Given the description of an element on the screen output the (x, y) to click on. 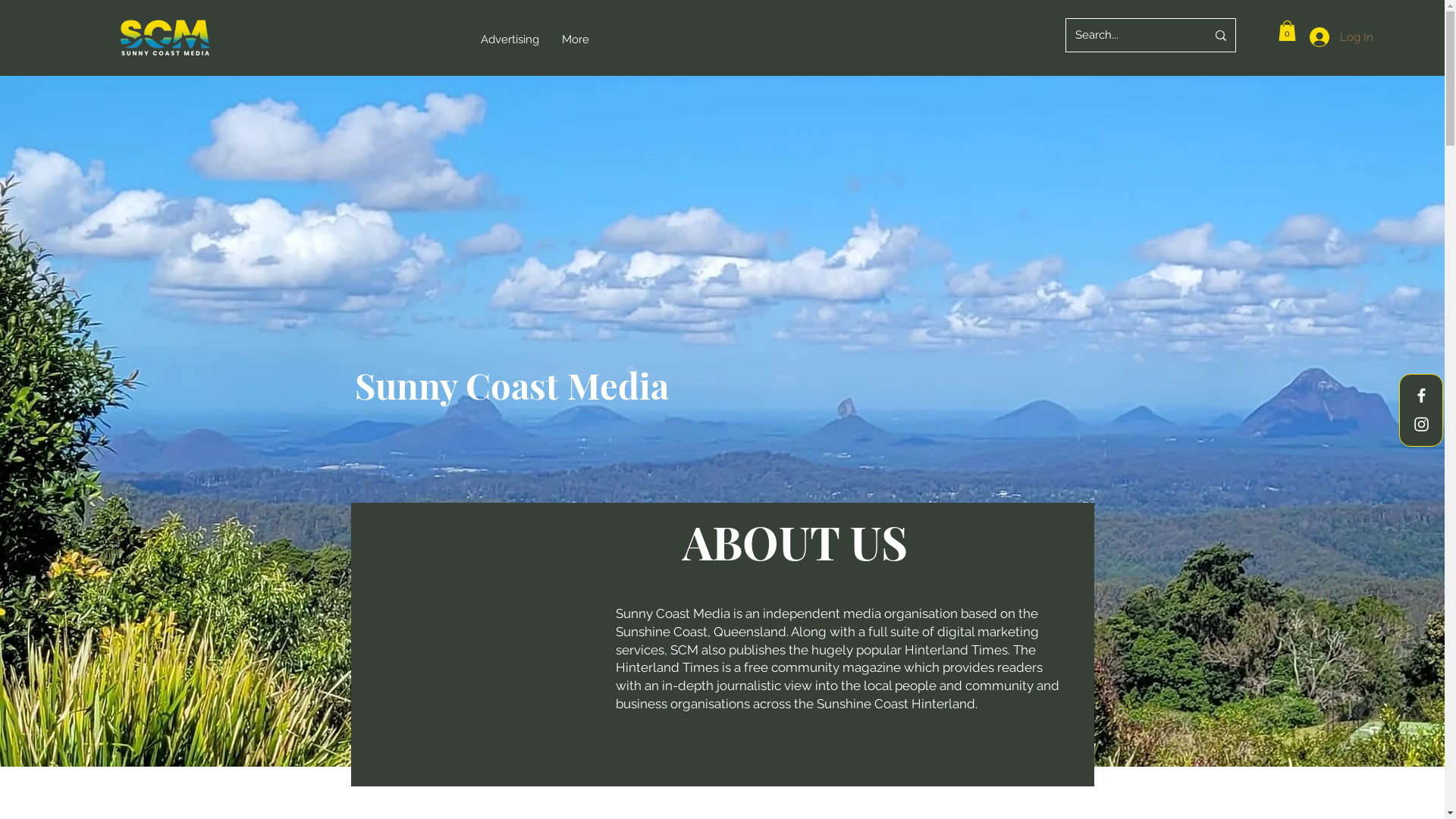
0 Element type: text (1286, 30)
Log In Element type: text (1341, 36)
Advertising Element type: text (508, 39)
